Given the description of an element on the screen output the (x, y) to click on. 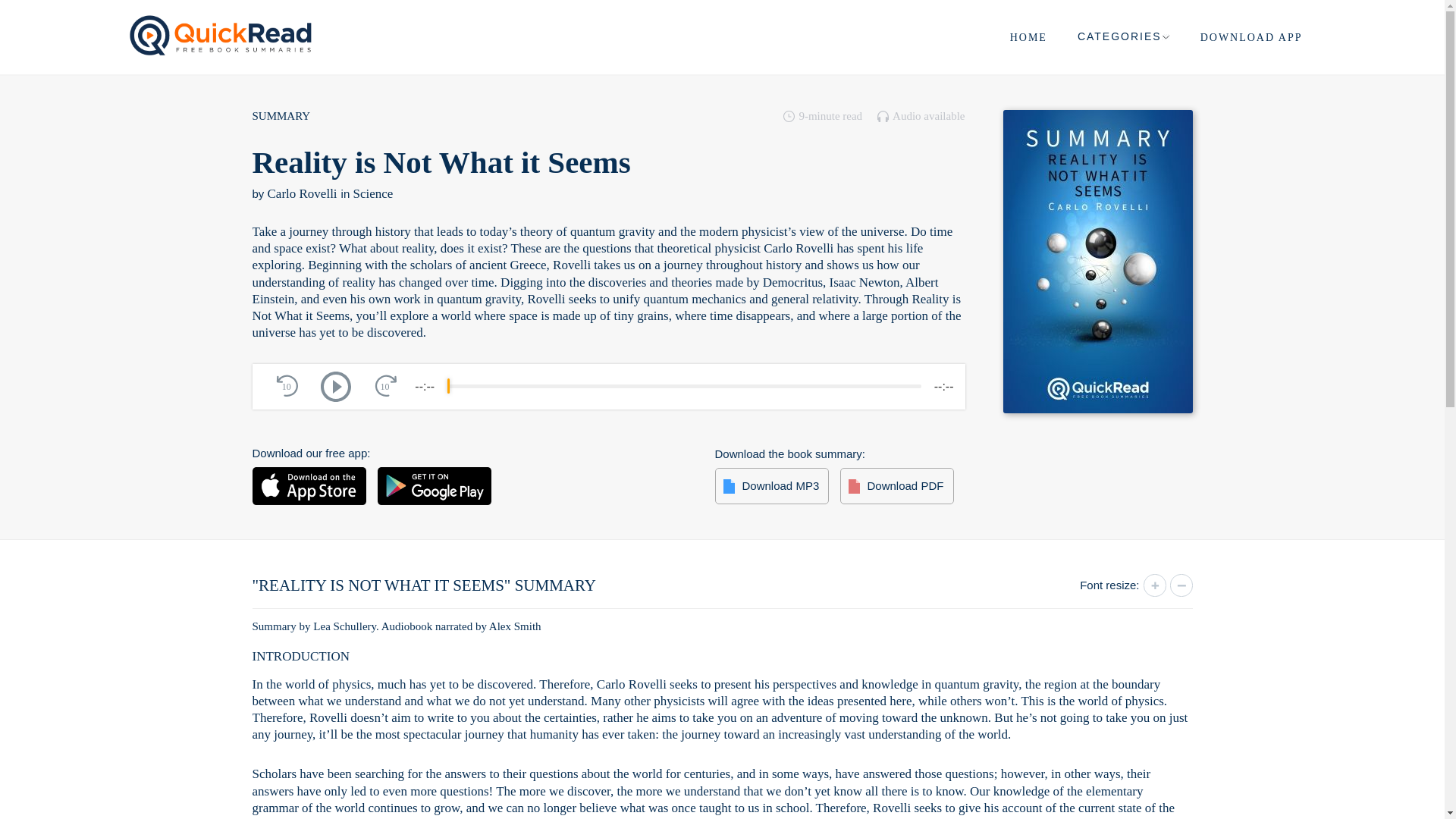
Download PDF (896, 485)
DOWNLOAD APP (1251, 37)
HOME (1028, 37)
Download MP3 (771, 485)
Science (372, 193)
